Given the description of an element on the screen output the (x, y) to click on. 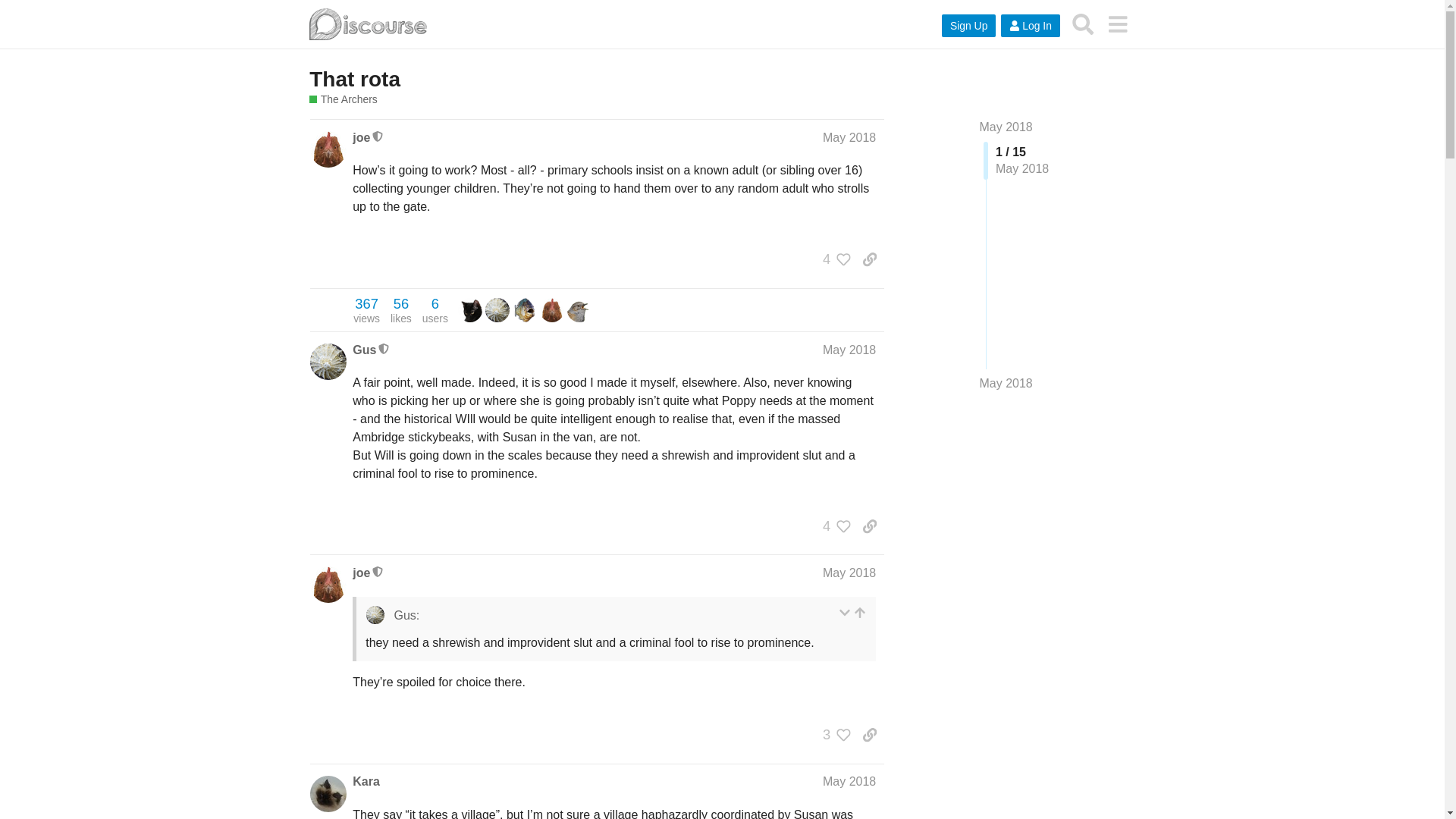
joe (360, 137)
4 (832, 258)
This user is a moderator (378, 137)
Log In (1030, 25)
Post date (849, 137)
Sign Up (968, 25)
Gus (363, 349)
Jump to the first post (1005, 126)
May 2018 (849, 137)
May 2018 (1005, 126)
